Given the description of an element on the screen output the (x, y) to click on. 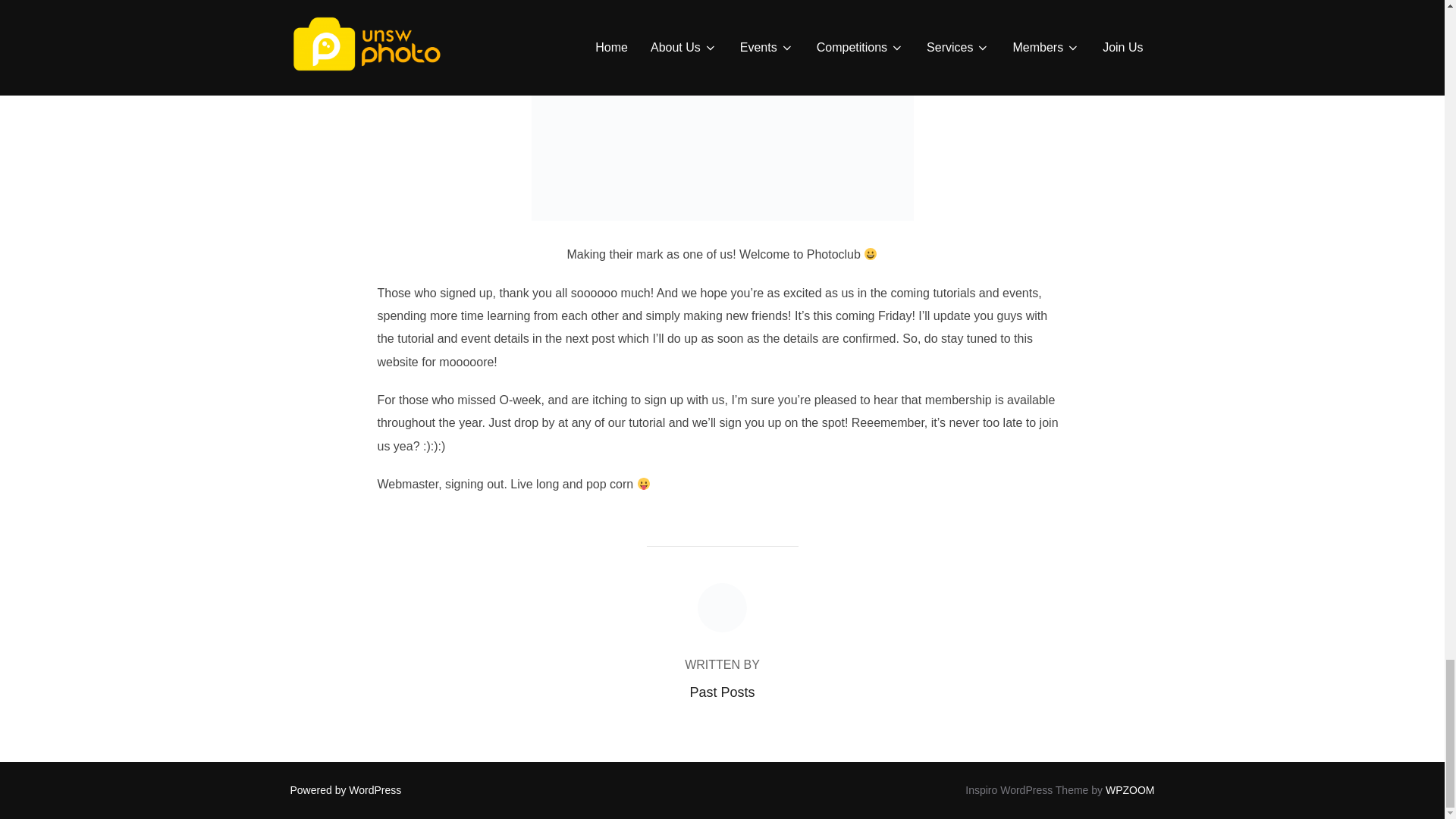
Posts by Past Posts (721, 692)
